Given the description of an element on the screen output the (x, y) to click on. 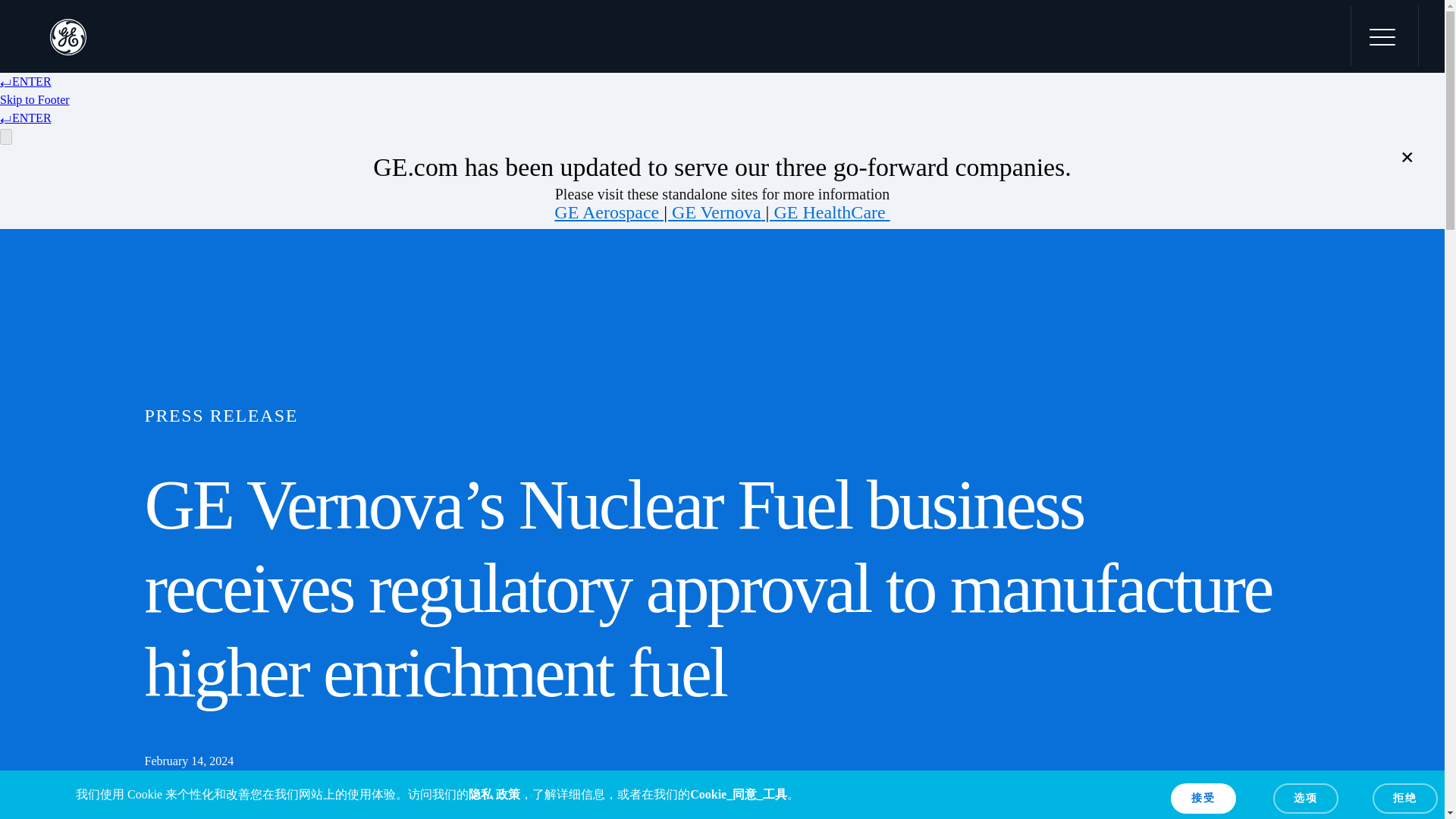
GE HealthCare (829, 211)
GE Vernova (716, 211)
Opens in a new browser tab. (829, 211)
GE Aerospace (606, 211)
Opens in a new browser tab. (606, 211)
General Electric Logo (67, 36)
Opens in a new browser tab. (716, 211)
